Given the description of an element on the screen output the (x, y) to click on. 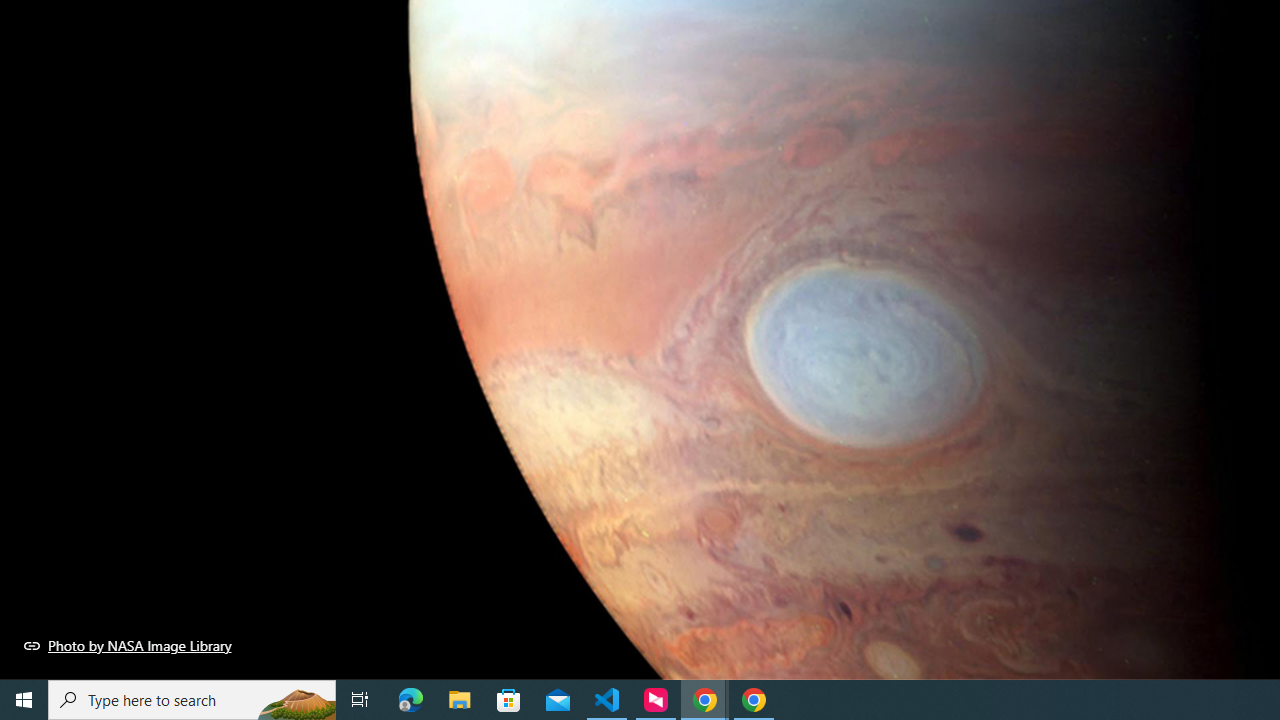
Photo by NASA Image Library (127, 645)
